Given the description of an element on the screen output the (x, y) to click on. 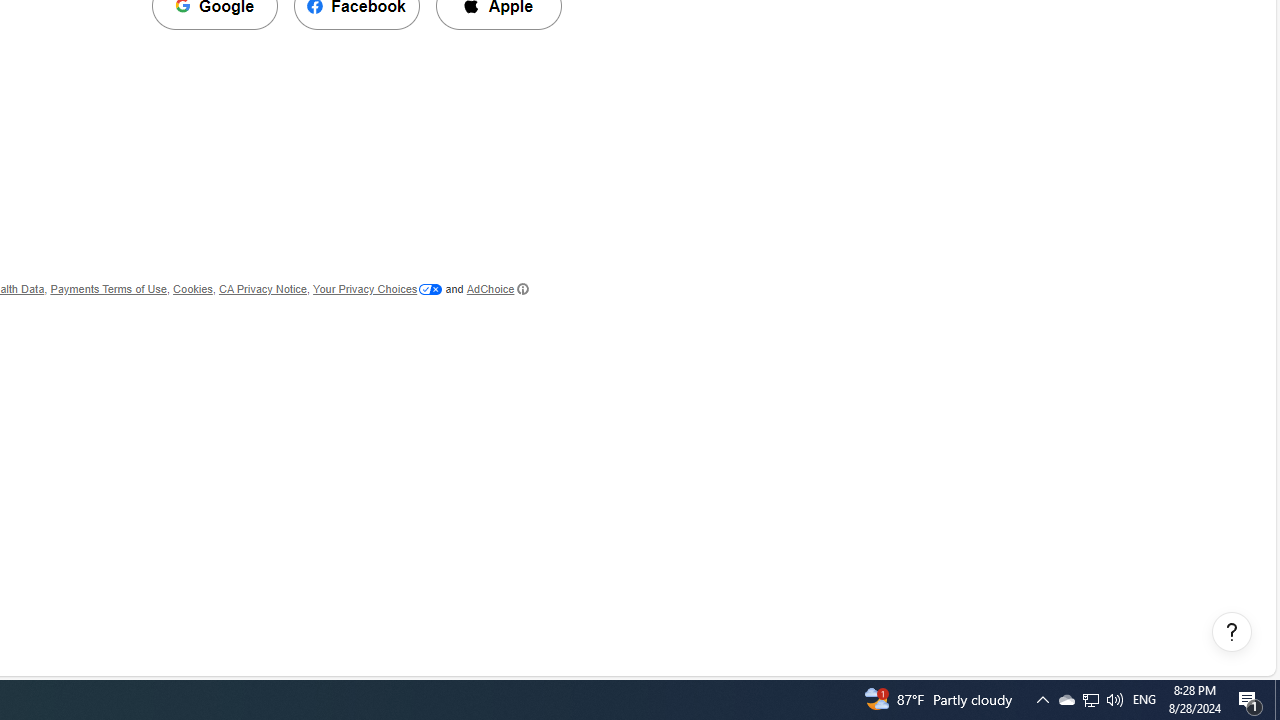
Your Privacy Choices (377, 288)
Cookies (192, 288)
Payments Terms of Use (107, 288)
Help, opens dialogs (1231, 632)
CA Privacy Notice (262, 288)
AdChoice (497, 288)
